Given the description of an element on the screen output the (x, y) to click on. 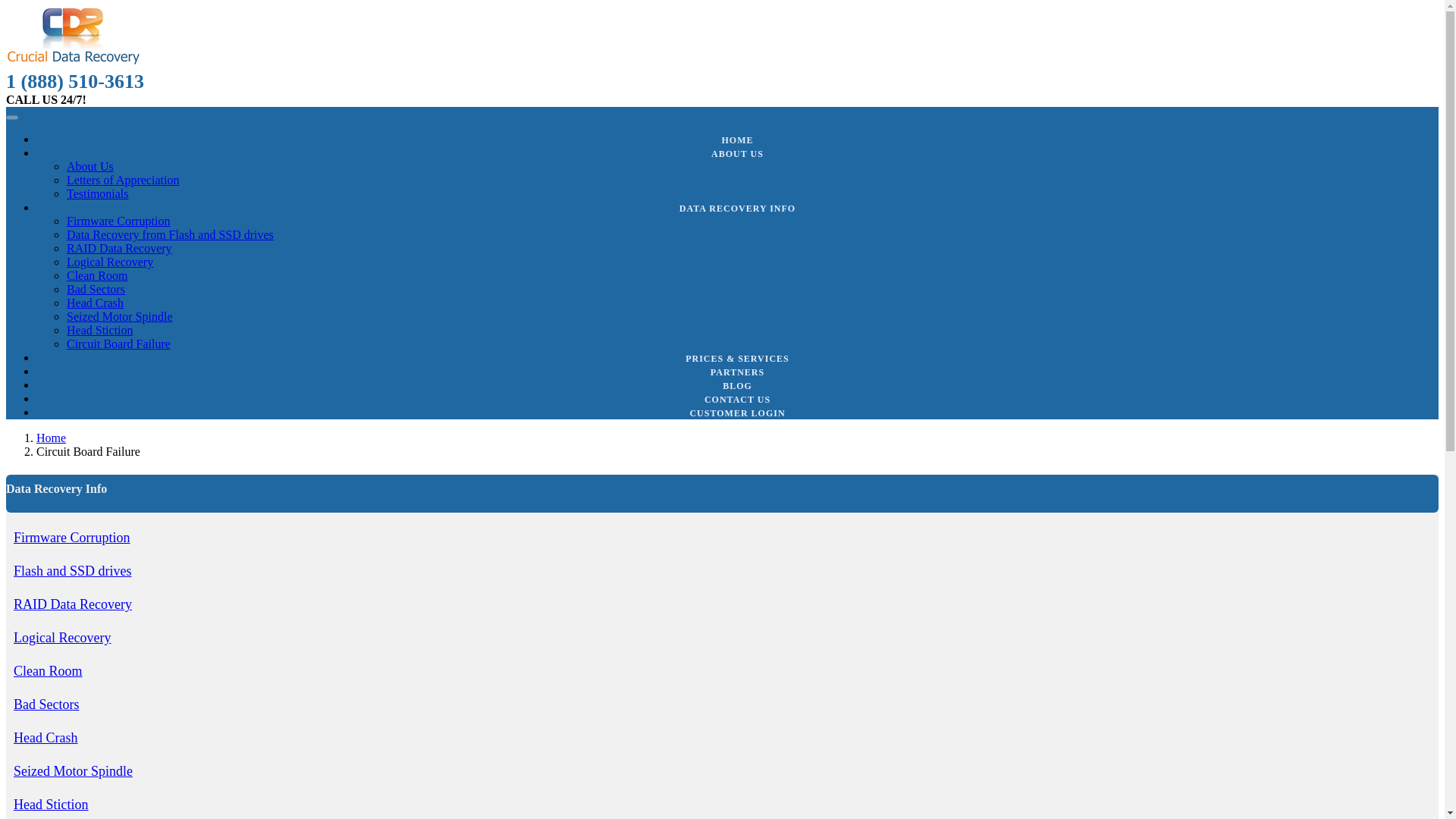
Home (50, 437)
Bad Sectors (45, 703)
Firmware Corruption (118, 220)
Flash and SSD drives (72, 570)
RAID Data Recovery (72, 604)
About Us (89, 165)
Logical Recovery (61, 637)
Head Stiction (50, 804)
Seized Motor Spindle (72, 770)
Clean Room (47, 670)
Logical Recovery (109, 261)
Letters of Appreciation (122, 179)
Circuit Board Failure (118, 343)
Head Crash (94, 302)
Seized Motor Spindle (119, 316)
